Given the description of an element on the screen output the (x, y) to click on. 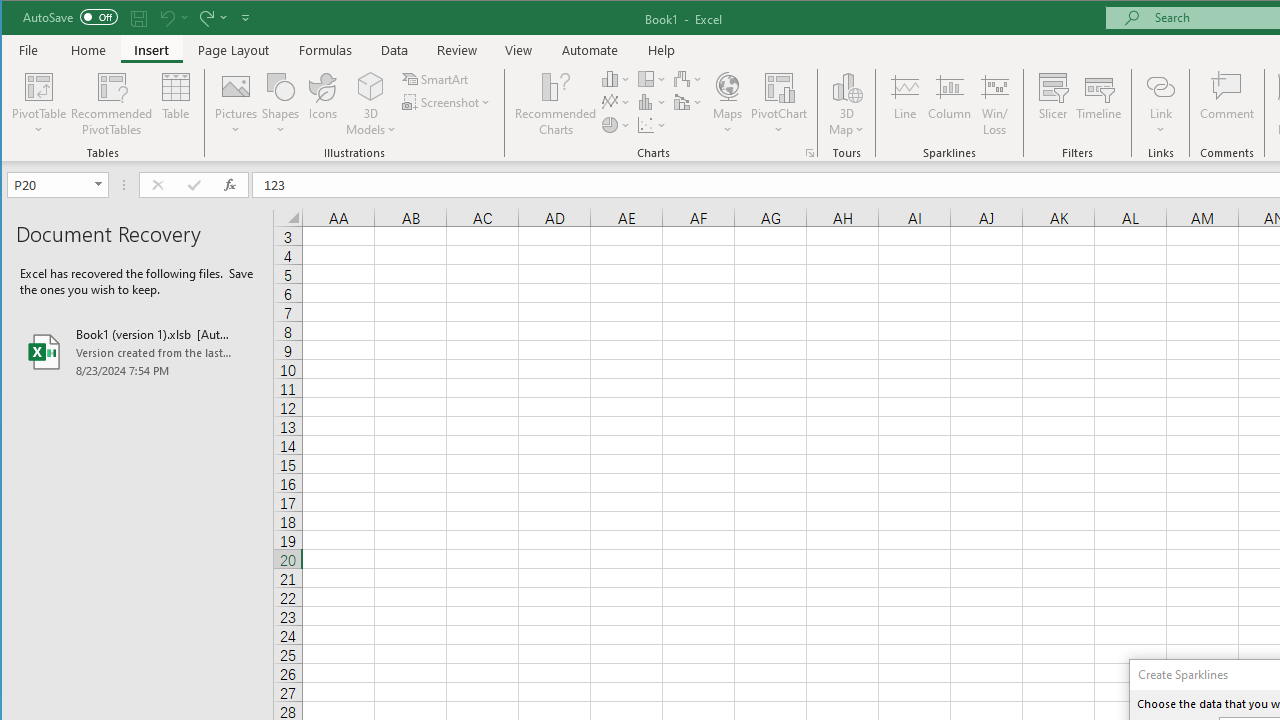
Comment (1227, 104)
Shapes (280, 104)
Link (1160, 86)
Insert Scatter (X, Y) or Bubble Chart (652, 124)
Link (1160, 104)
Pictures (235, 104)
Timeline (1098, 104)
